Given the description of an element on the screen output the (x, y) to click on. 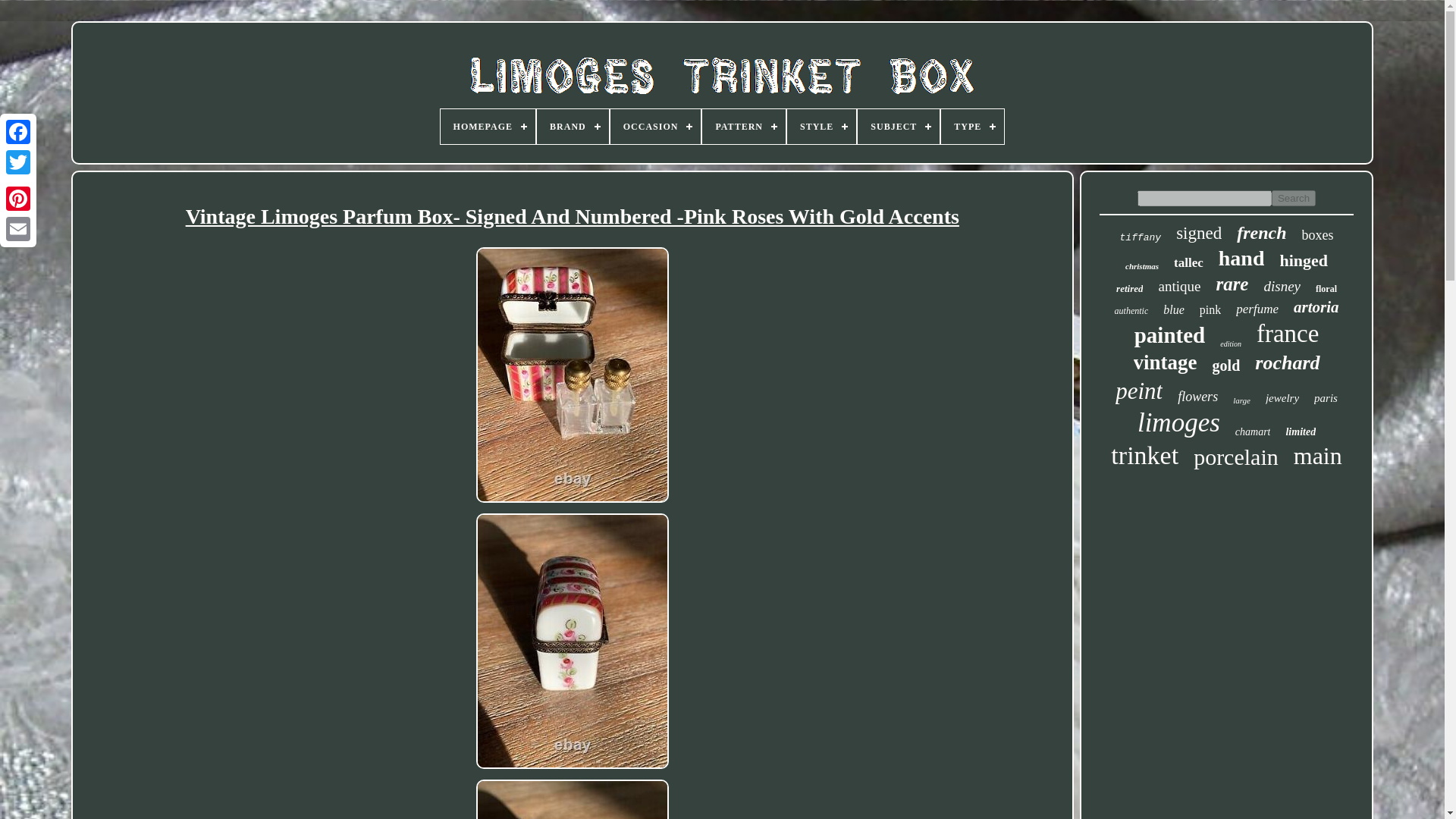
OCCASION (655, 126)
Search (1293, 198)
Pinterest (17, 198)
BRAND (572, 126)
HOMEPAGE (488, 126)
